Given the description of an element on the screen output the (x, y) to click on. 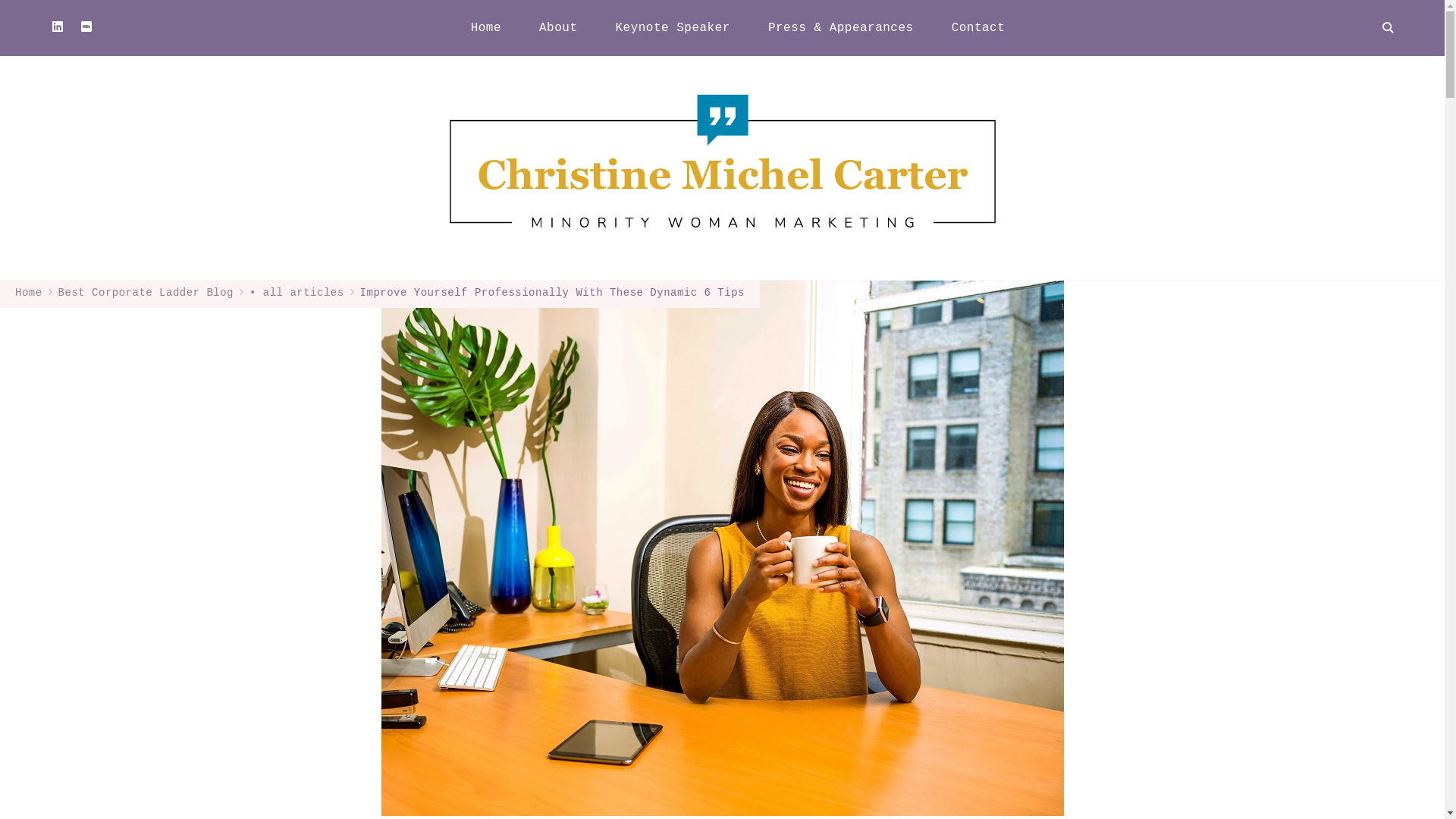
Keynote Speaker (671, 27)
Home (28, 292)
Contact (979, 27)
About (557, 27)
Christine Michel Carter (1182, 98)
Home (485, 27)
Best Corporate Ladder Blog (145, 292)
